Given the description of an element on the screen output the (x, y) to click on. 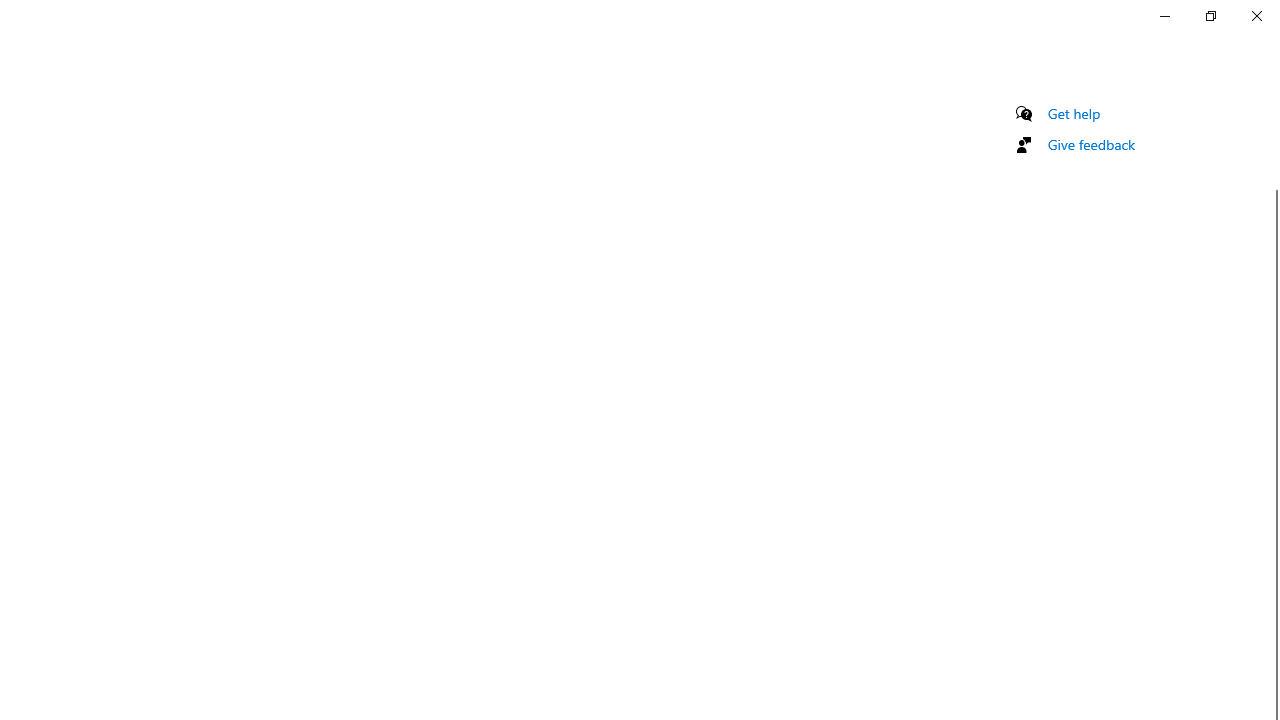
Vertical Small Decrease (1272, 103)
Vertical Large Decrease (1272, 151)
Give feedback (1091, 144)
Video playback settings (1089, 46)
Get help (1074, 113)
